Given the description of an element on the screen output the (x, y) to click on. 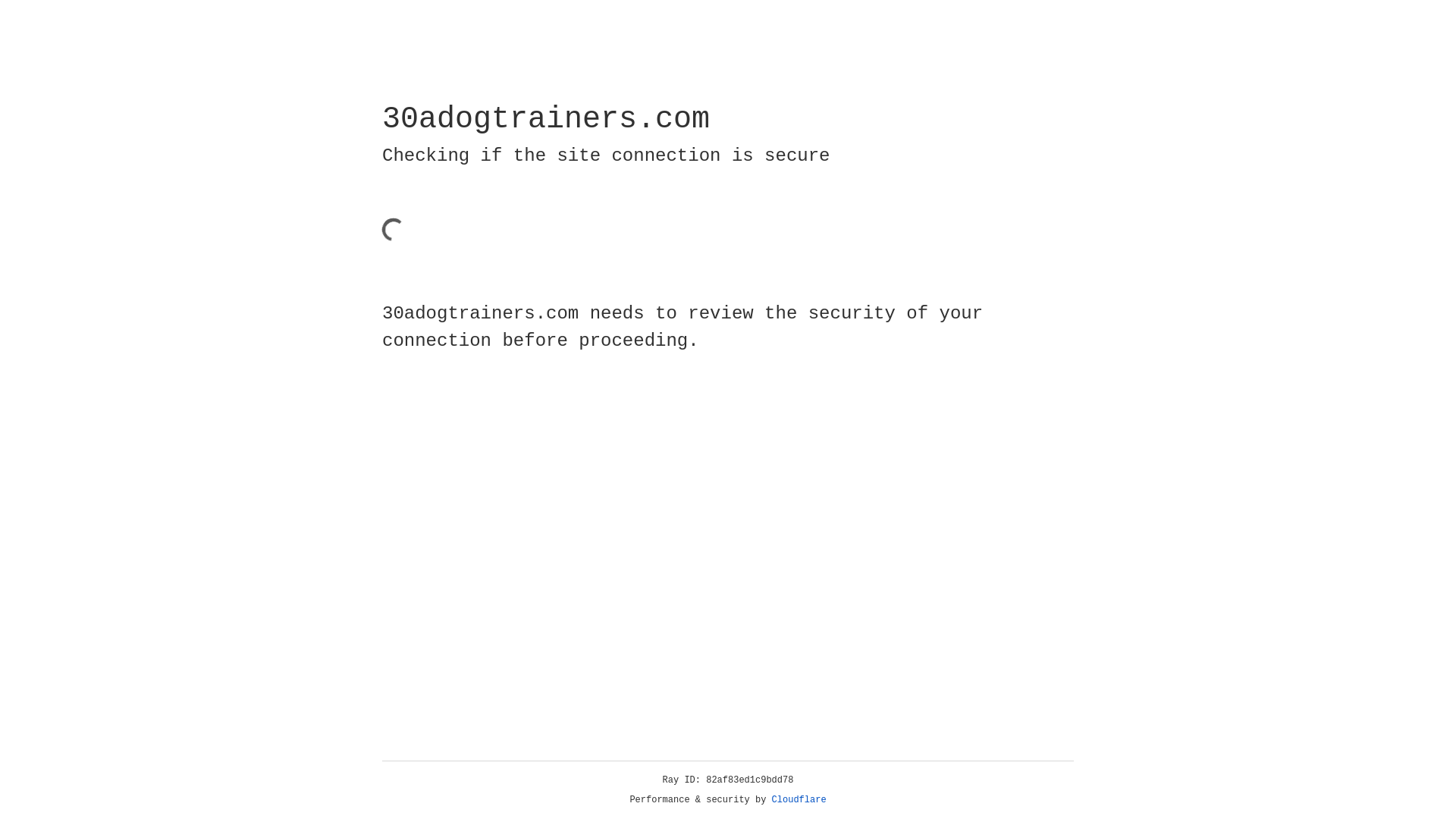
Cloudflare Element type: text (798, 799)
